Given the description of an element on the screen output the (x, y) to click on. 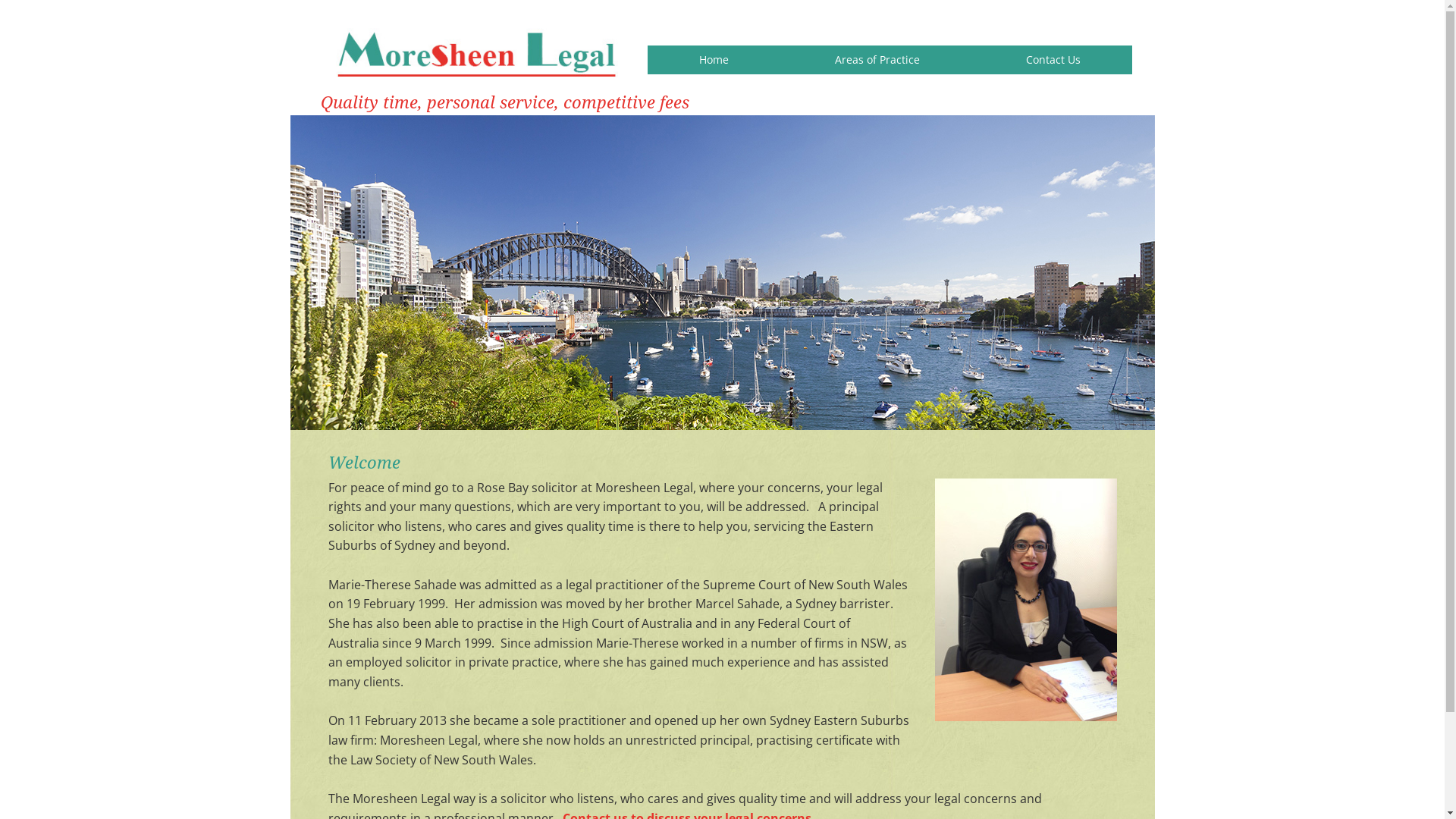
Home Element type: text (713, 59)
Skip to main content Element type: text (289, 0)
Areas of Practice Element type: text (876, 59)
Moresheen Legal Element type: hover (476, 55)
Quality time, personal service, competitive fees Element type: text (504, 102)
Contact Us Element type: text (1052, 59)
